Given the description of an element on the screen output the (x, y) to click on. 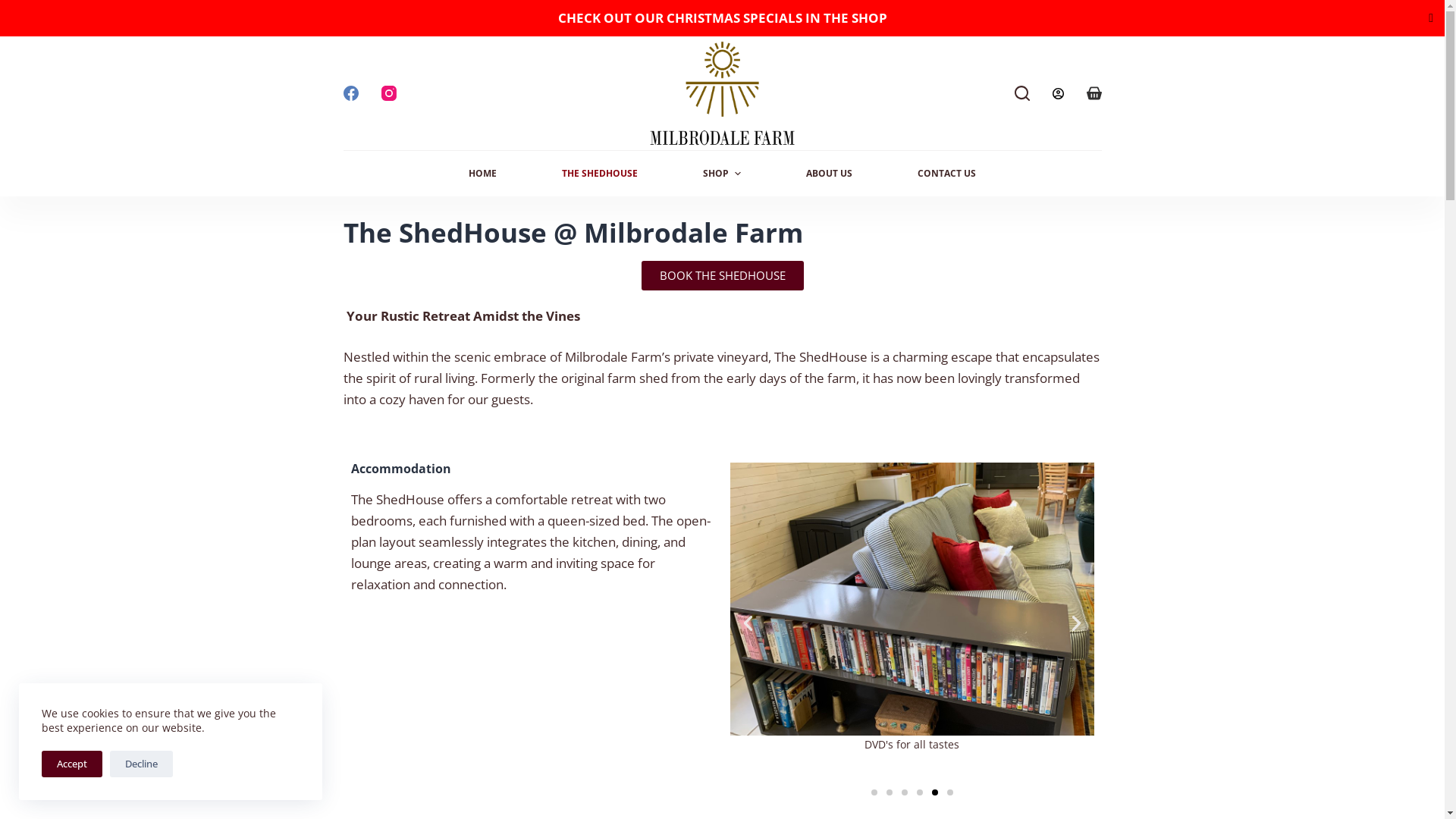
SHOP Element type: text (721, 173)
HOME Element type: text (482, 173)
BOOK THE SHEDHOUSE Element type: text (722, 275)
Decline Element type: text (140, 763)
CONTACT US Element type: text (946, 173)
THE SHEDHOUSE Element type: text (599, 173)
CHECK OUT OUR CHRISTMAS SPECIALS IN THE SHOP Element type: text (722, 17)
Skip to content Element type: text (15, 7)
Accept Element type: text (71, 763)
ABOUT US Element type: text (828, 173)
